Given the description of an element on the screen output the (x, y) to click on. 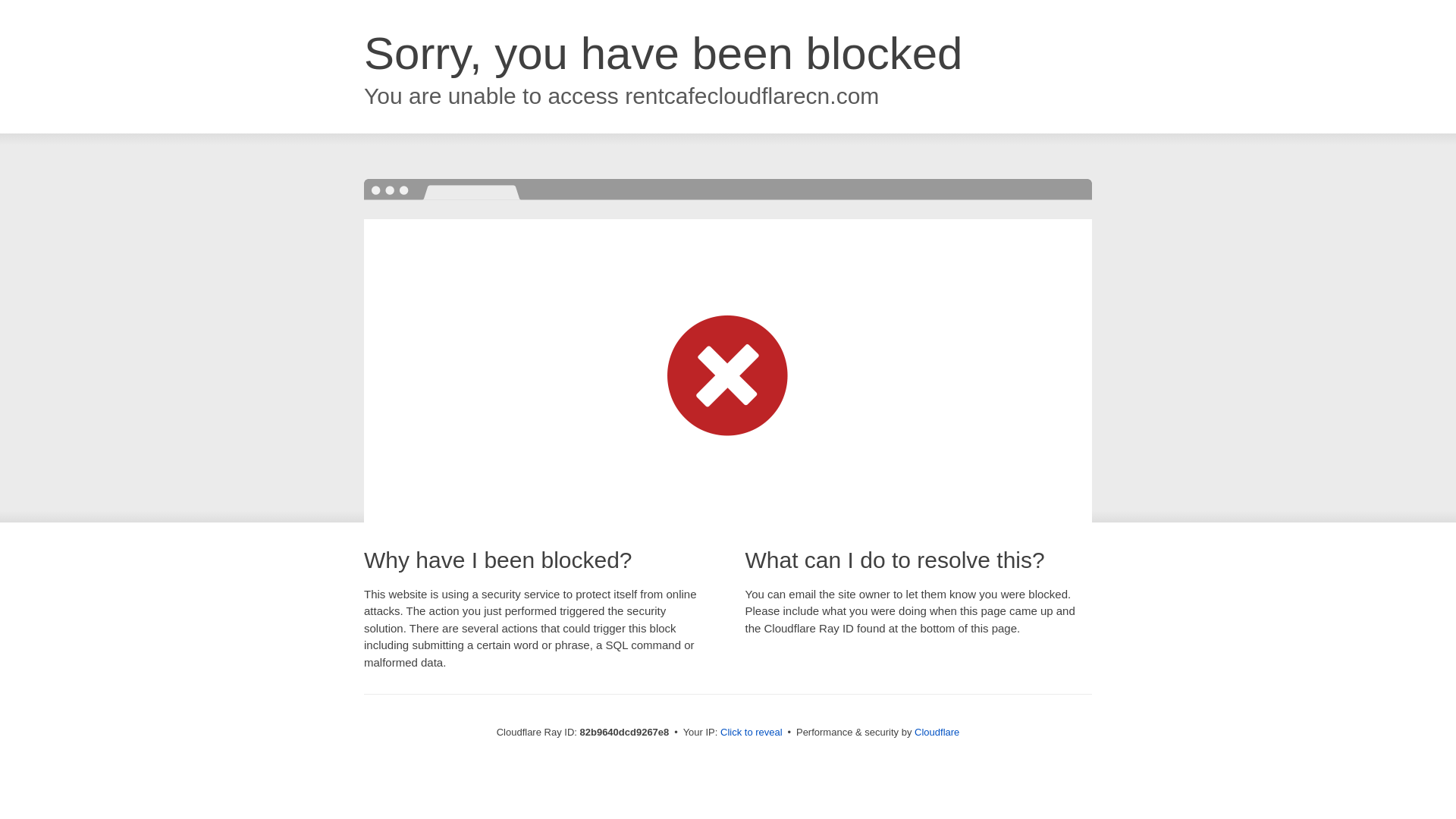
Click to reveal Element type: text (751, 732)
Cloudflare Element type: text (936, 731)
